Given the description of an element on the screen output the (x, y) to click on. 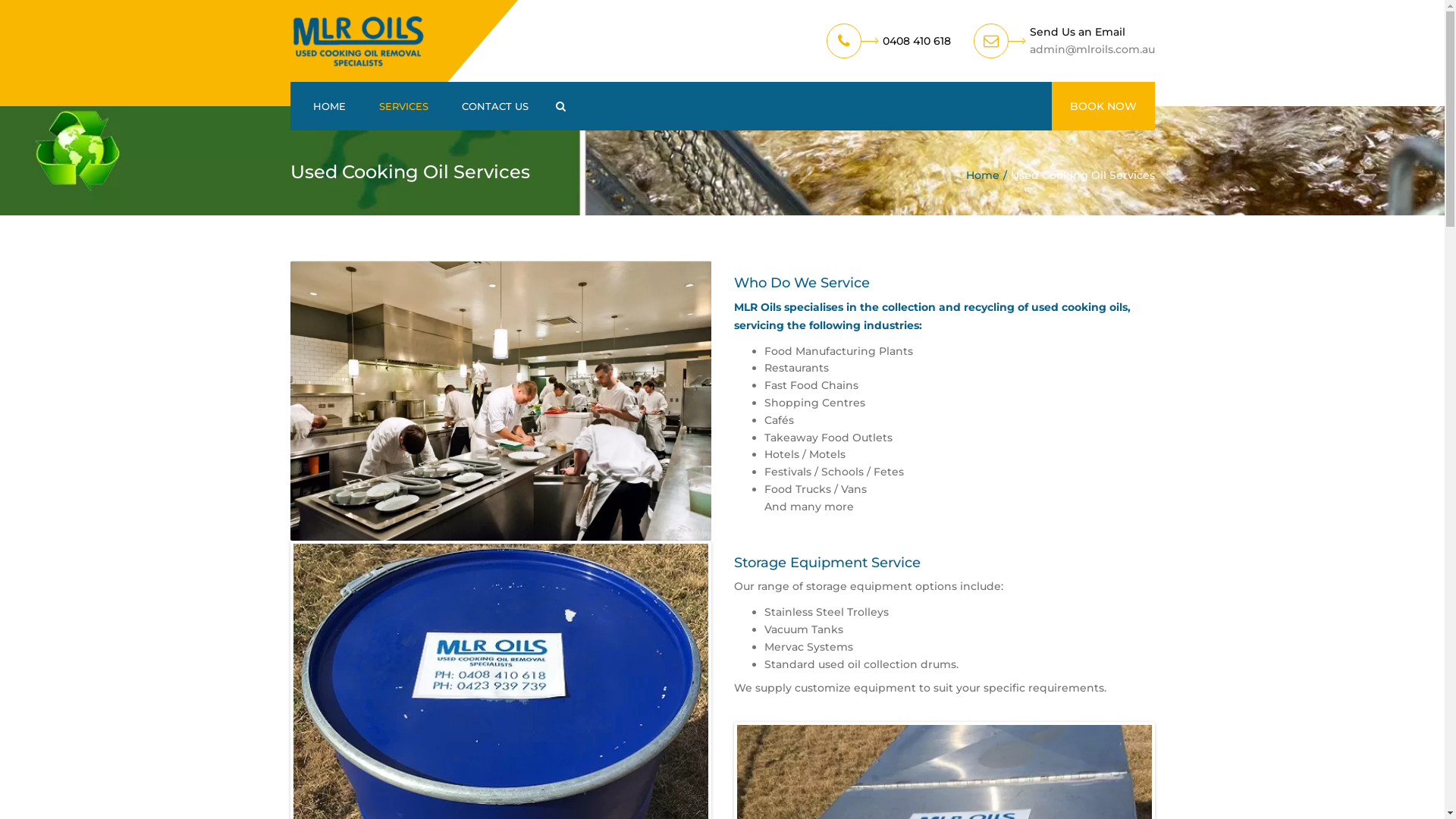
SERVICES Element type: text (403, 105)
Search Element type: text (559, 105)
HOME Element type: text (328, 105)
Home Element type: text (988, 175)
CONTACT US Element type: text (494, 105)
BOOK NOW Element type: text (1102, 105)
